Given the description of an element on the screen output the (x, y) to click on. 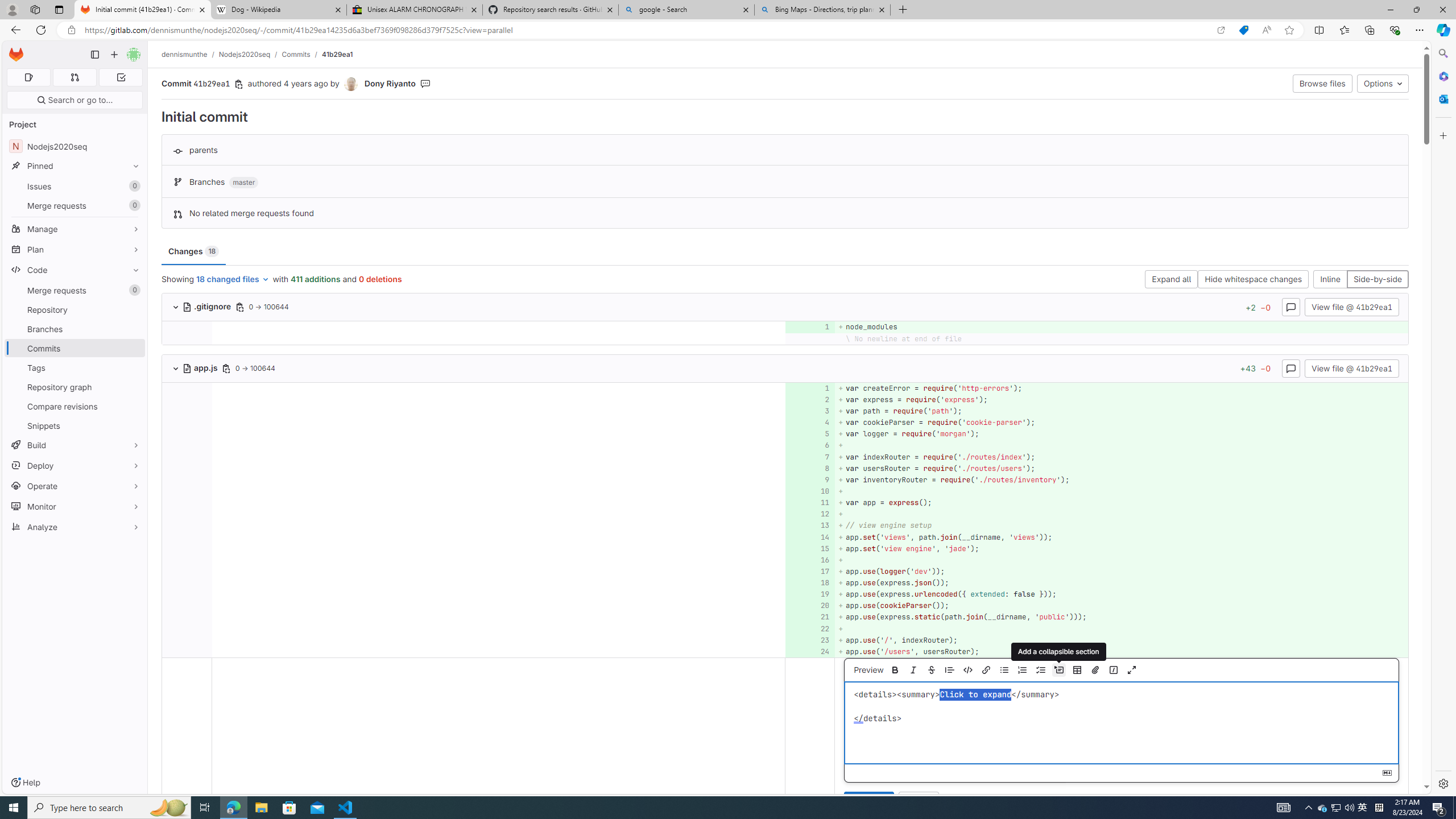
13 (808, 525)
Insert a quote (949, 670)
6 (808, 445)
Copy commit SHA (238, 83)
41b29ea1 (337, 53)
Dony Riyanto's avatar (351, 83)
Add a numbered list (1021, 670)
Pin Compare revisions (132, 406)
Add italic text (Ctrl+I) (912, 670)
Snippets (74, 425)
Pin Repository graph (132, 386)
Add a quick action (1113, 670)
Class: notes_holder js-temp-notes-holder (784, 737)
